Given the description of an element on the screen output the (x, y) to click on. 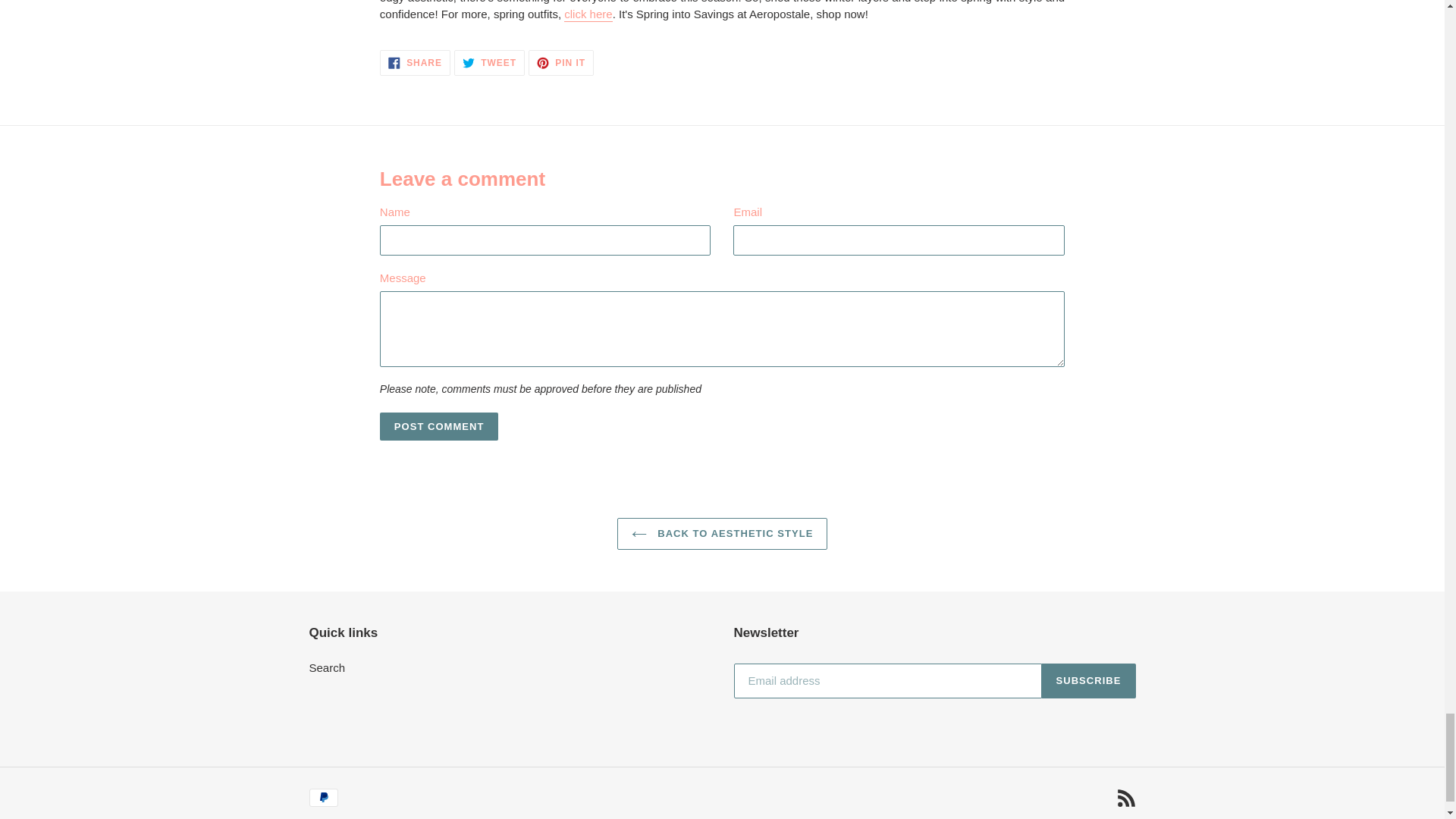
SUBSCRIBE (414, 62)
Post comment (1088, 680)
BACK TO AESTHETIC STYLE (439, 426)
Search (722, 533)
Aero Spring Savings (327, 667)
click here (489, 62)
Post comment (587, 14)
RSS (587, 14)
